Given the description of an element on the screen output the (x, y) to click on. 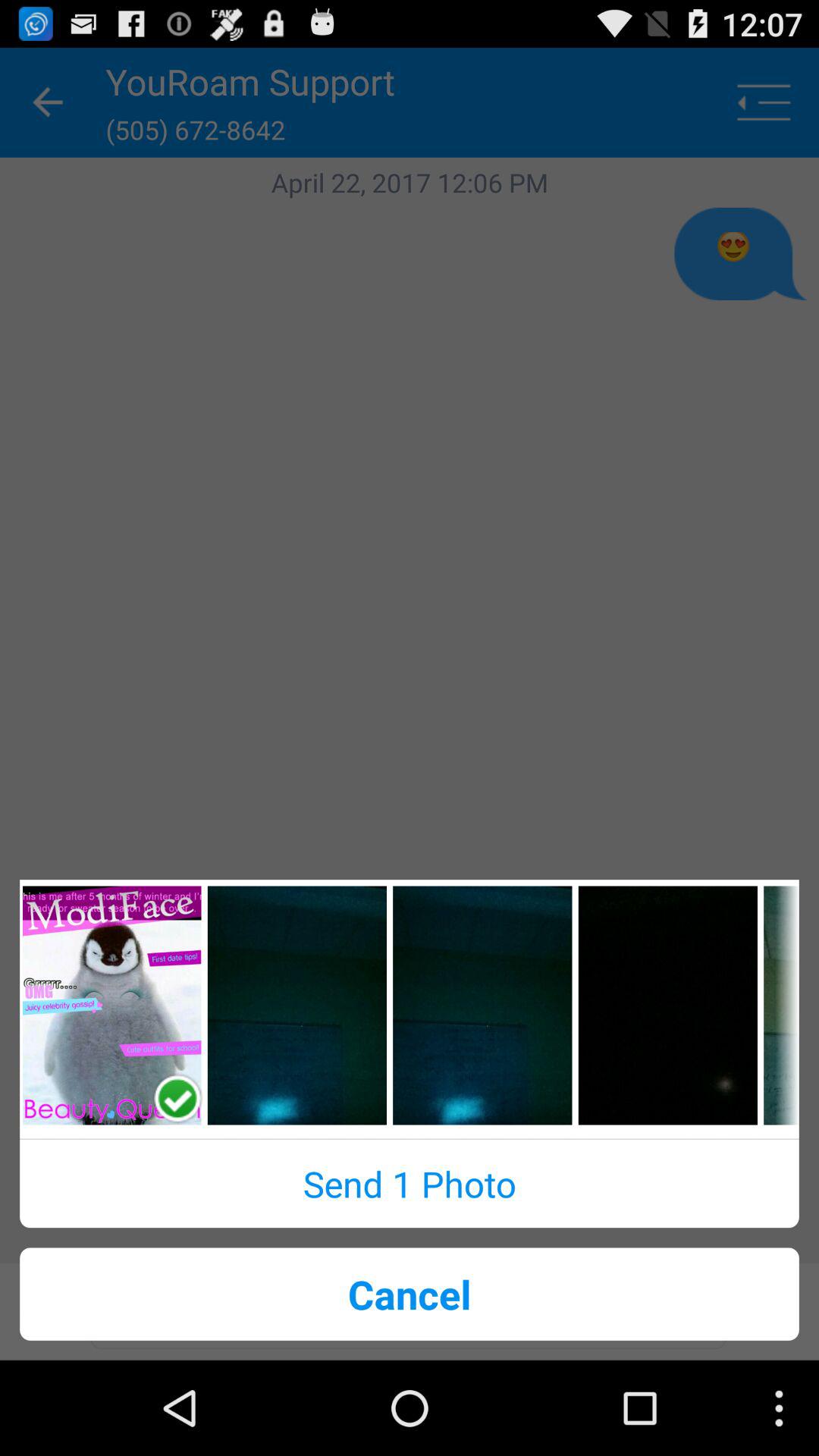
select photo (296, 1005)
